Given the description of an element on the screen output the (x, y) to click on. 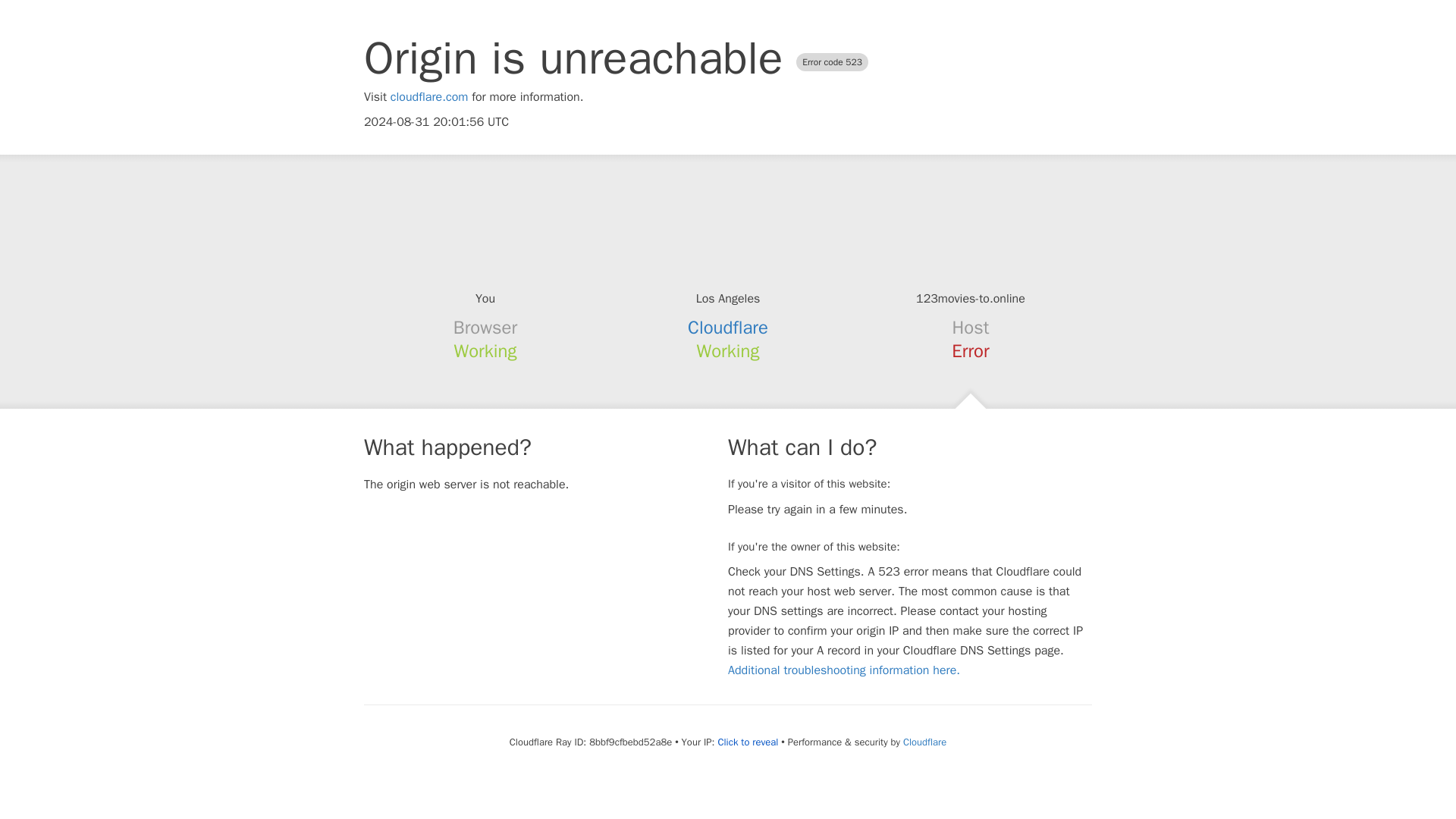
Click to reveal (747, 742)
cloudflare.com (429, 96)
Cloudflare (727, 327)
Cloudflare (924, 741)
Additional troubleshooting information here. (843, 670)
